Given the description of an element on the screen output the (x, y) to click on. 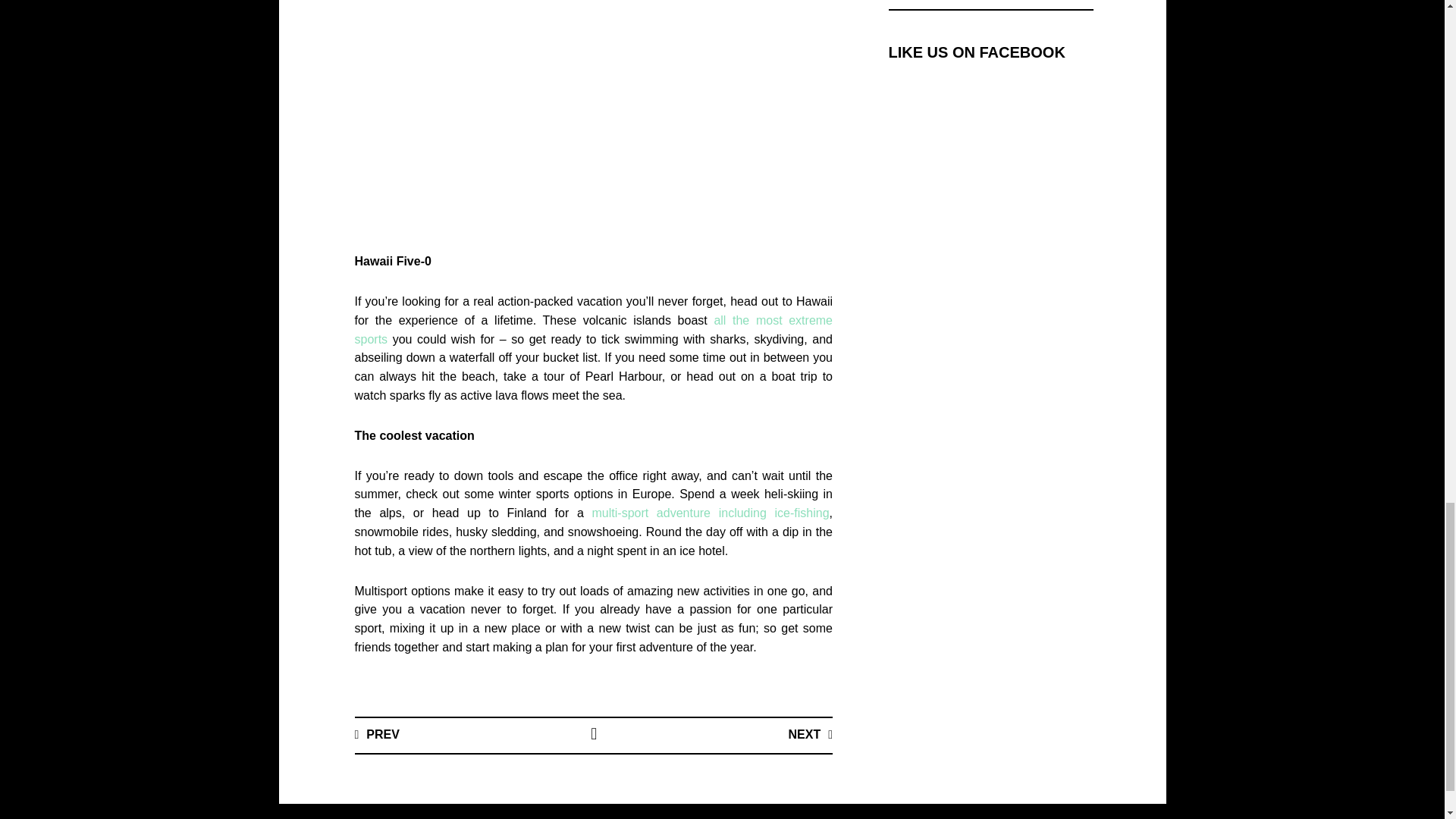
all the most extreme sports (593, 329)
multi-sport adventure including ice-fishing (710, 512)
PREV (376, 734)
NEXT (809, 734)
